Given the description of an element on the screen output the (x, y) to click on. 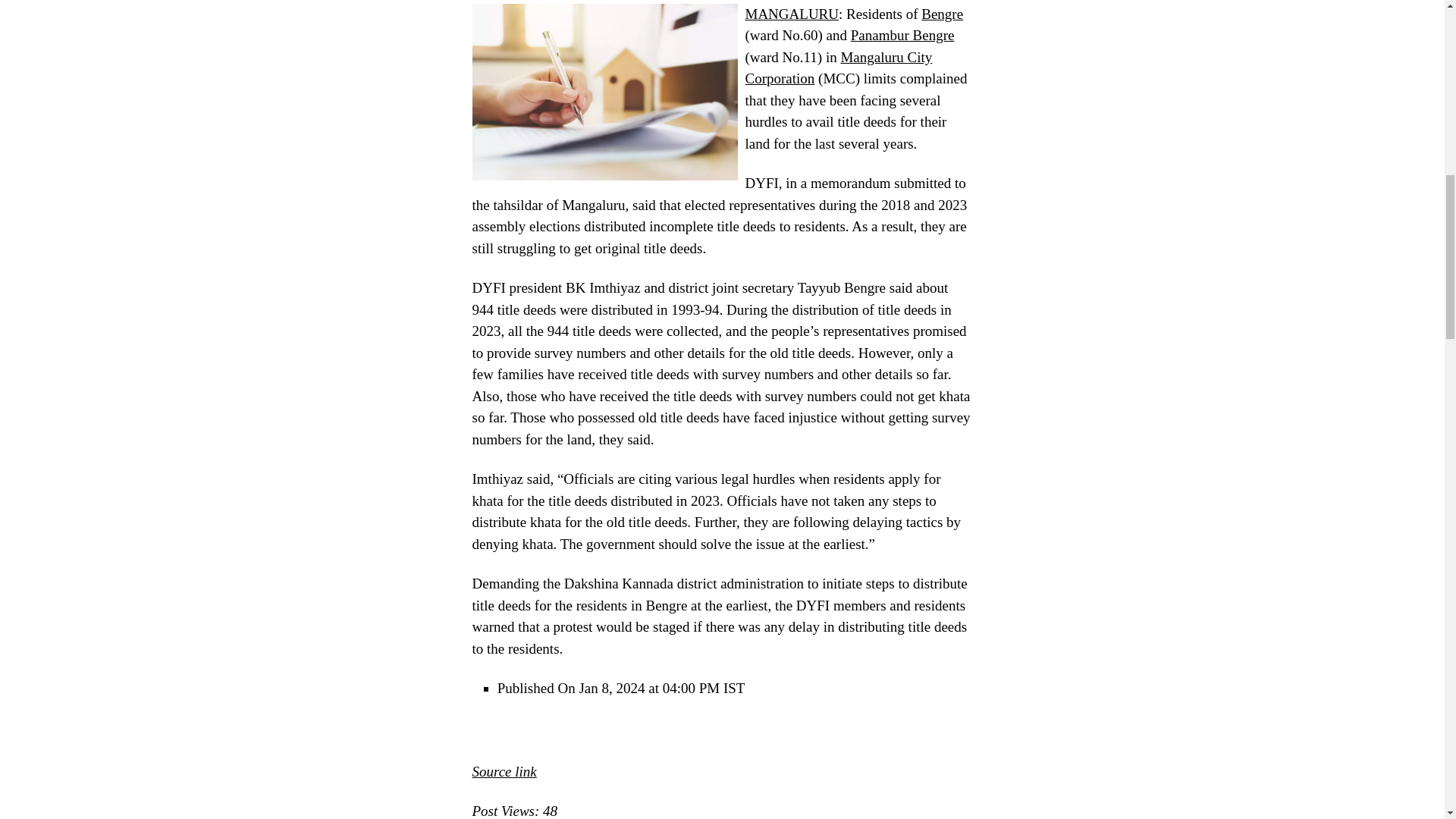
Panambur Bengre (902, 35)
Mangaluru City Corporation (837, 67)
Bengre (941, 13)
MANGALURU (791, 13)
